Given the description of an element on the screen output the (x, y) to click on. 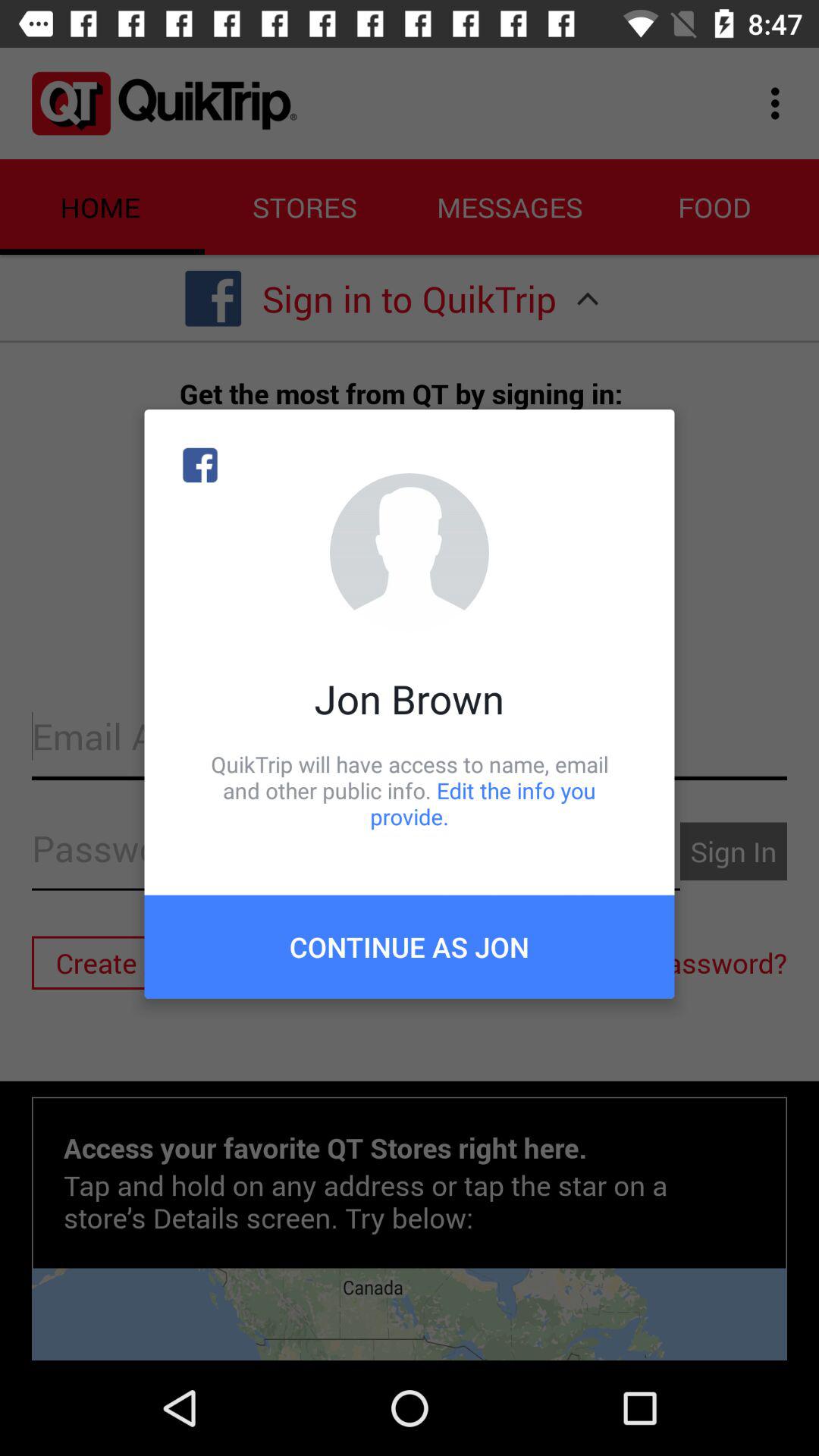
tap the continue as jon (409, 946)
